Given the description of an element on the screen output the (x, y) to click on. 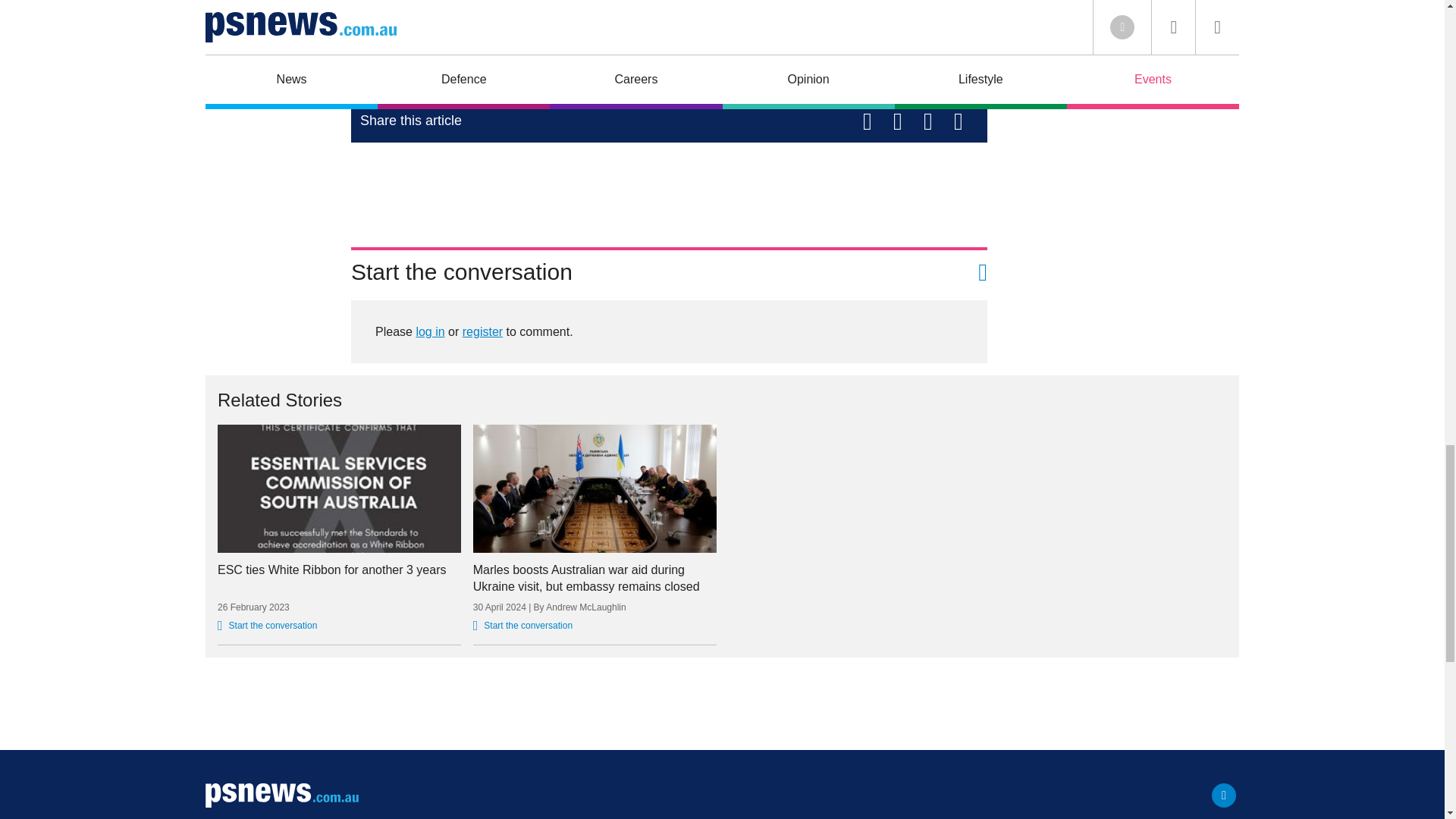
3rd party ad content (721, 703)
LinkedIn (1223, 794)
3rd party ad content (668, 188)
